Given the description of an element on the screen output the (x, y) to click on. 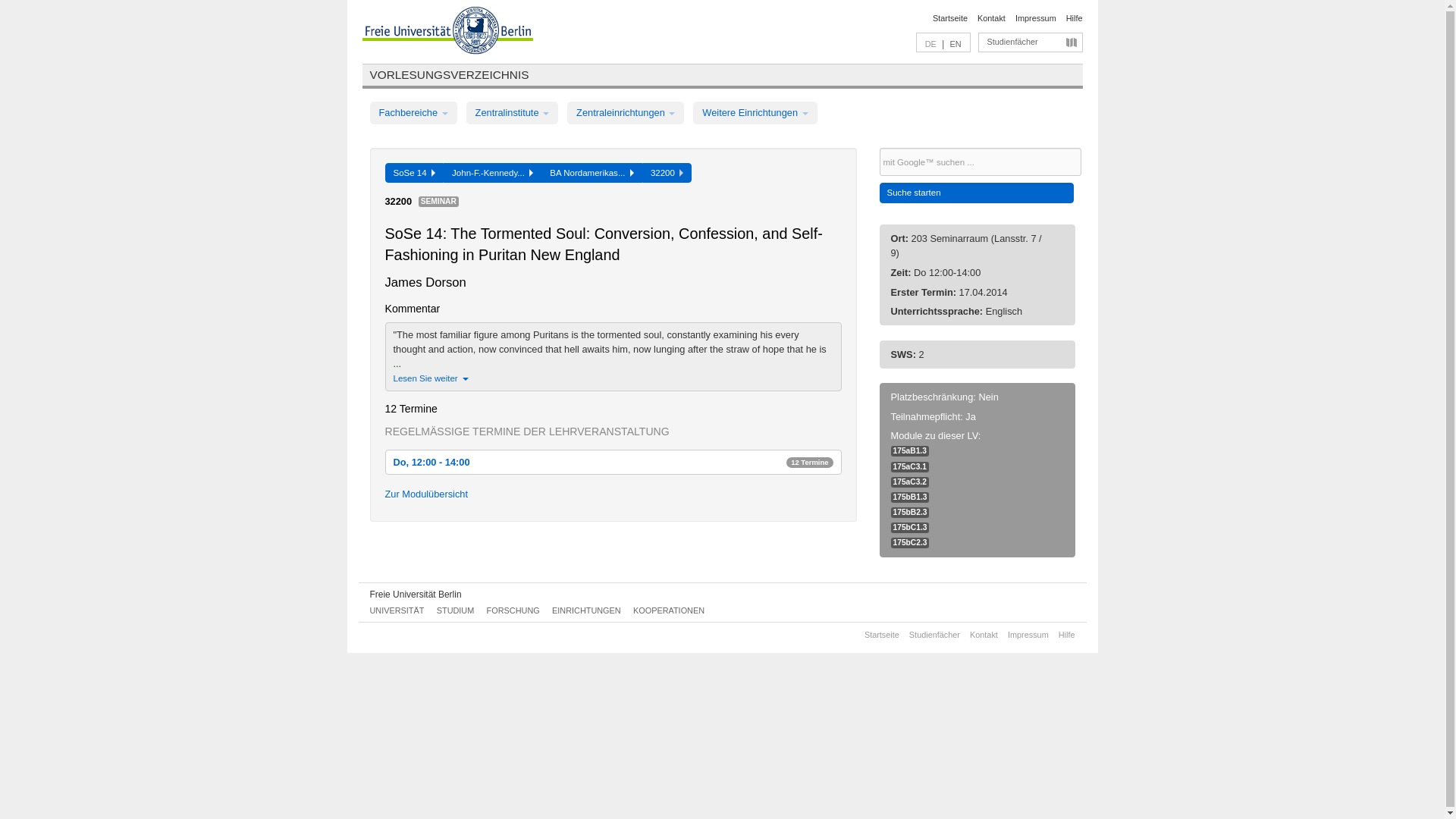
Suche starten (976, 192)
Startseite (950, 17)
VORLESUNGSVERZEICHNIS (449, 74)
Hinweise zur Benutzung des Vorlesungsverzeichnisses (1074, 17)
SoSe 14   (414, 172)
Startseite (449, 74)
Hilfe (1074, 17)
Impressum (1035, 17)
Suche starten (976, 192)
Kontakt (991, 17)
Fachbereiche (413, 112)
English version of this page (954, 43)
Zentraleinrichtungen (625, 112)
Weitere Einrichtungen (754, 112)
EN (954, 43)
